Given the description of an element on the screen output the (x, y) to click on. 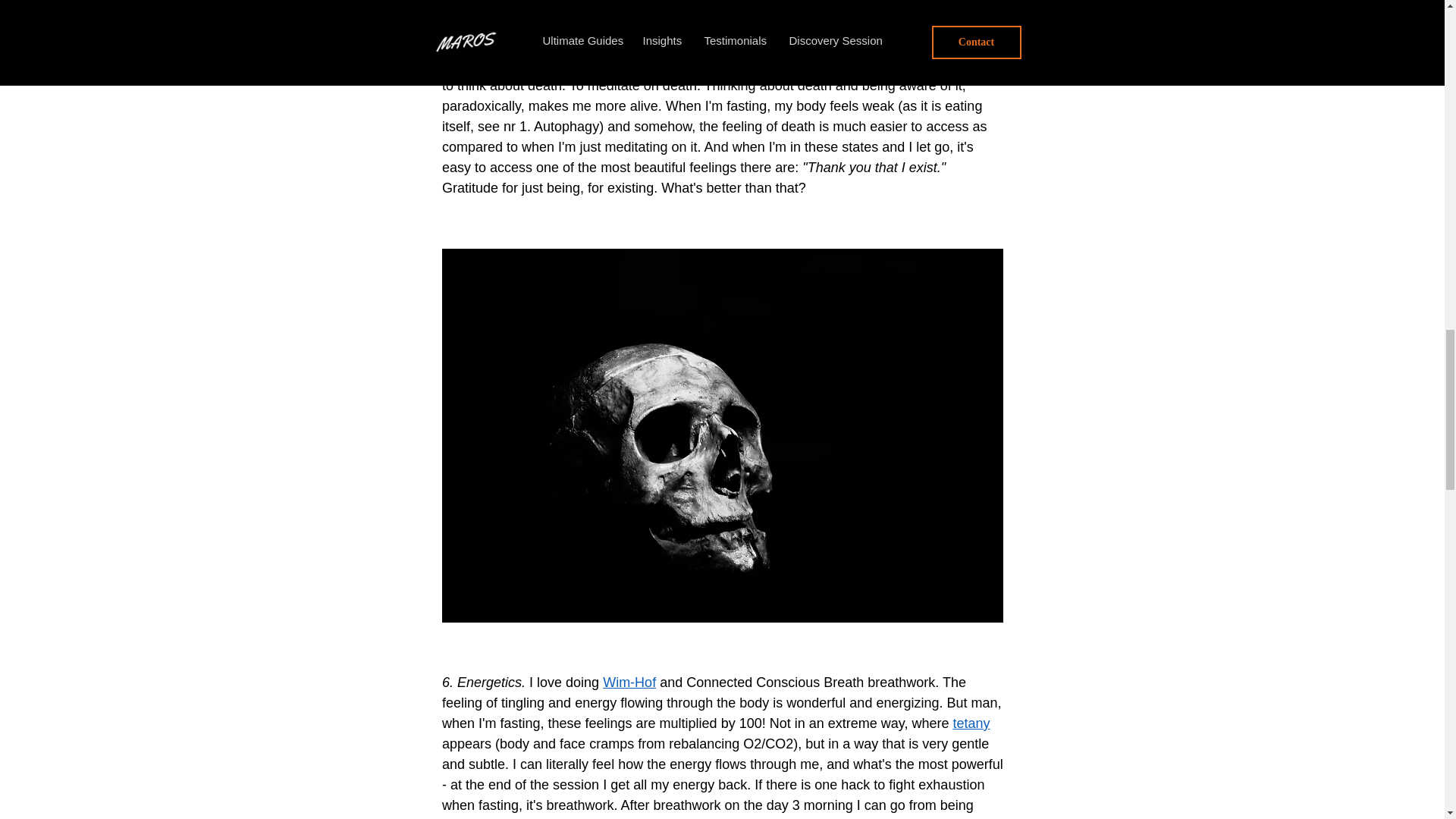
Wim-Hof (629, 682)
tetany (971, 723)
Memento mori (635, 5)
